Given the description of an element on the screen output the (x, y) to click on. 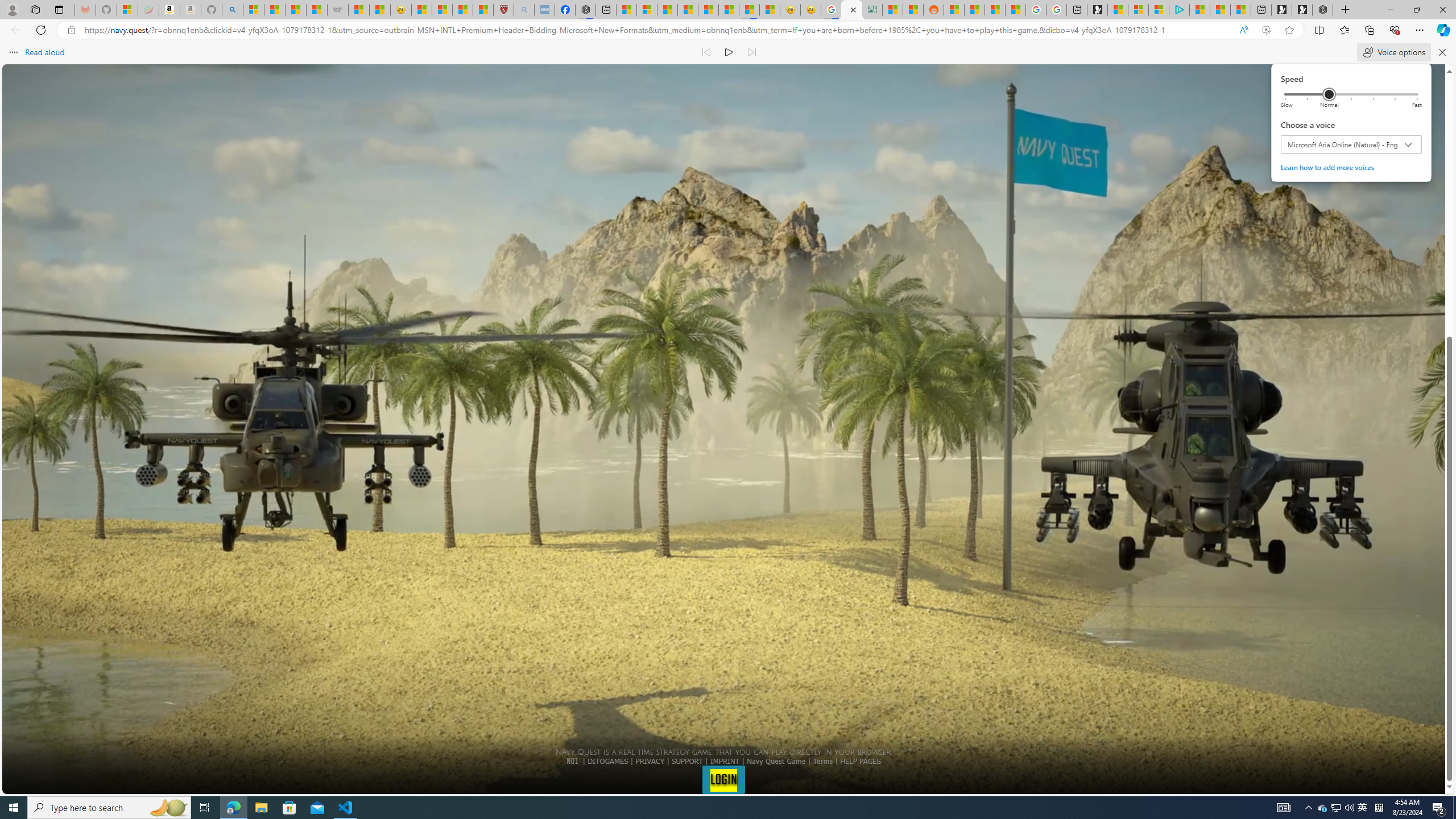
File Explorer (261, 807)
Microsoft Store (289, 807)
Enhance video (1266, 29)
Recipes - MSN (421, 9)
Robert H. Shmerling, MD - Harvard Health (503, 9)
Navy Quest (851, 9)
MSN (748, 9)
Nordace - Nordace Siena Is Not An Ordinary Backpack (1322, 9)
